Given the description of an element on the screen output the (x, y) to click on. 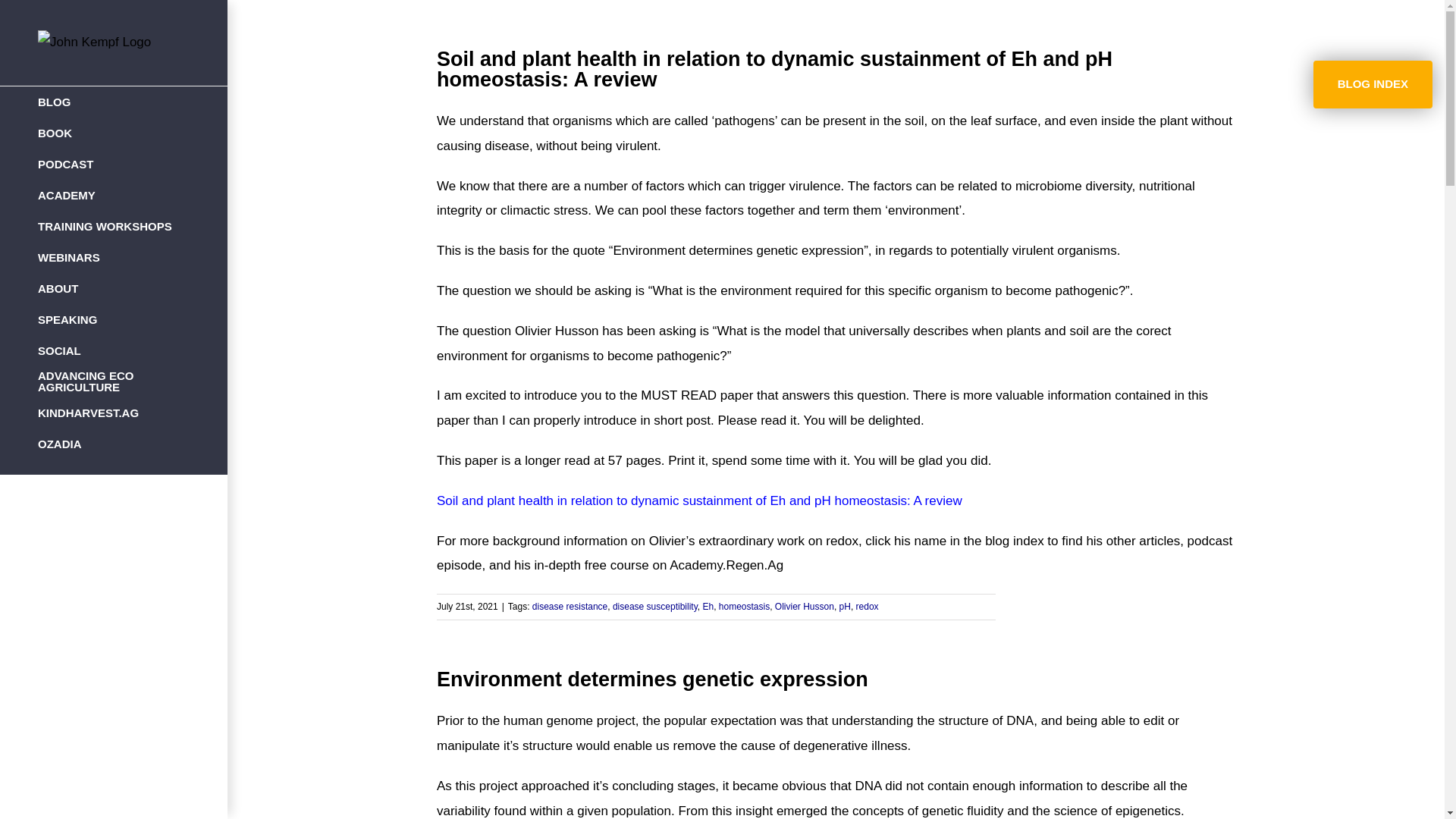
disease resistance (569, 606)
Olivier Husson (804, 606)
Eh (707, 606)
BOOK (113, 132)
BLOG (113, 101)
PODCAST (113, 163)
TRAINING WORKSHOPS (113, 225)
KINDHARVEST.AG (113, 412)
SOCIAL (113, 350)
